Given the description of an element on the screen output the (x, y) to click on. 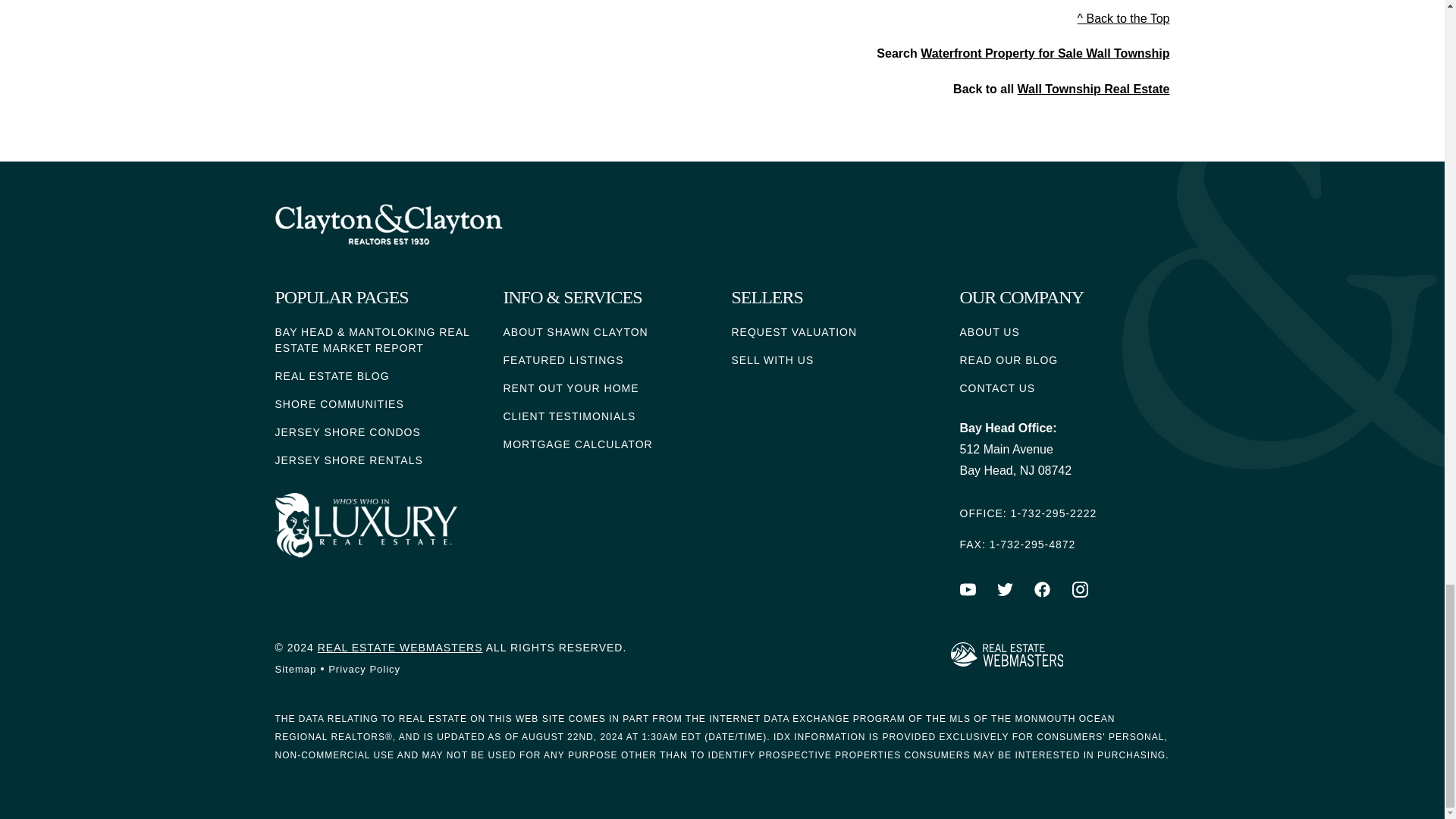
YOUTUBE (967, 589)
TWITTER (1005, 589)
FACEBOOK (1041, 589)
